Given the description of an element on the screen output the (x, y) to click on. 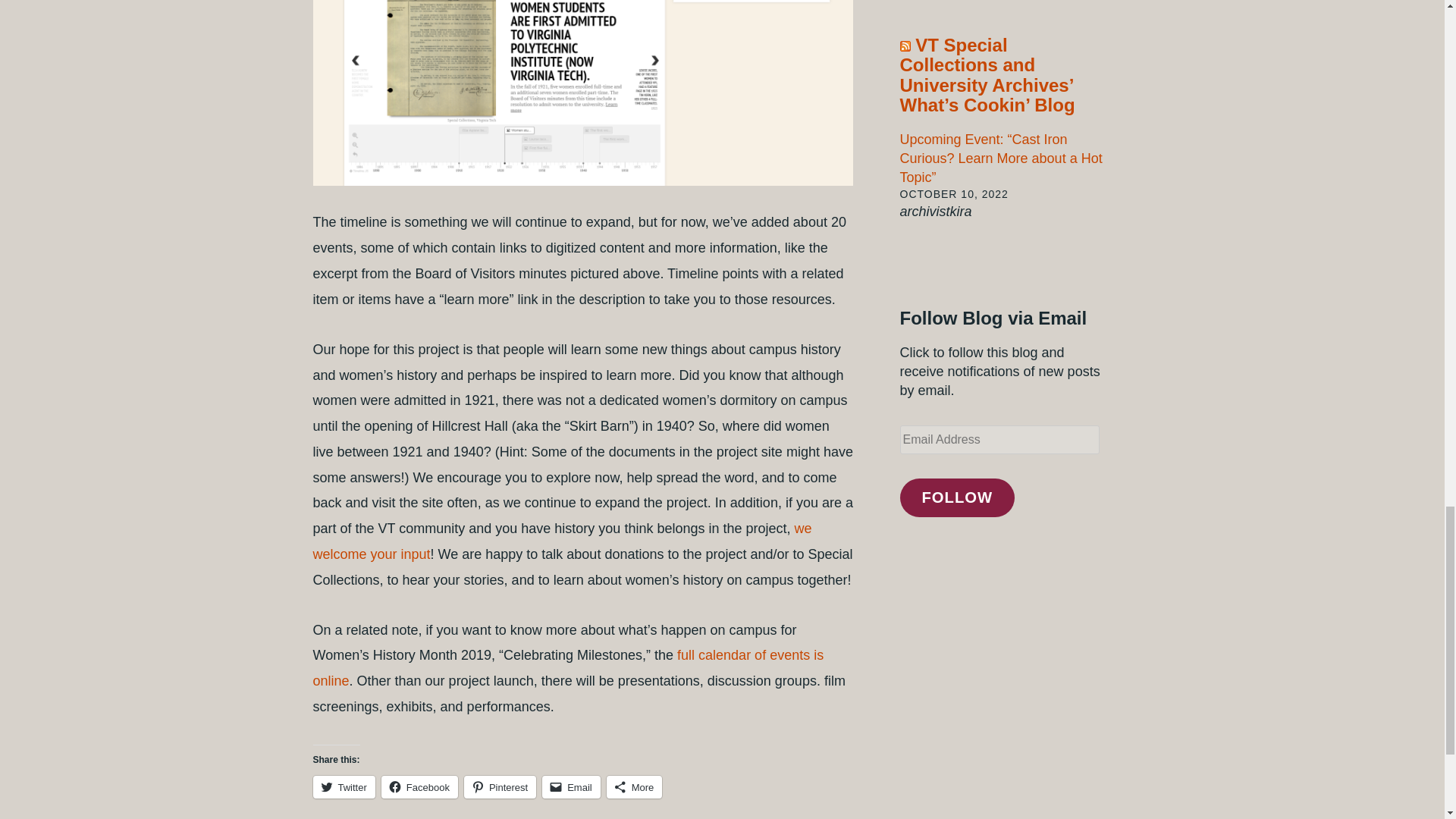
Pinterest (499, 786)
Click to share on Facebook (419, 786)
Click to share on Twitter (343, 786)
Facebook (419, 786)
full calendar of events is online (568, 667)
we welcome your input (561, 540)
Click to share on Pinterest (499, 786)
More (634, 786)
Email (570, 786)
Twitter (343, 786)
Click to email a link to a friend (570, 786)
